Given the description of an element on the screen output the (x, y) to click on. 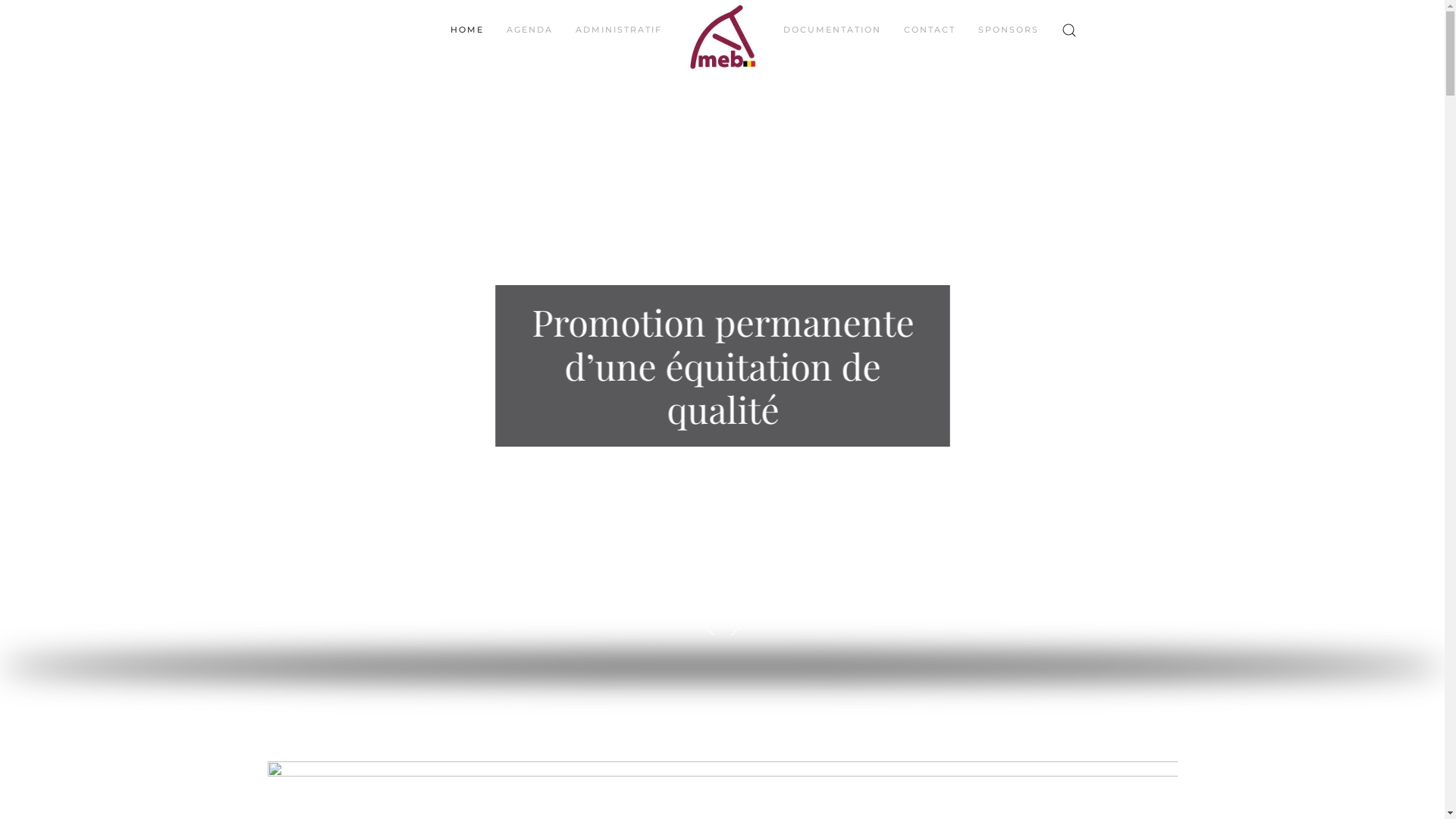
AGENDA Element type: text (529, 30)
CONTACT Element type: text (929, 30)
DOCUMENTATION Element type: text (831, 30)
ADMINISTRATIF Element type: text (617, 30)
SPONSORS Element type: text (1008, 30)
HOME Element type: text (466, 30)
